Given the description of an element on the screen output the (x, y) to click on. 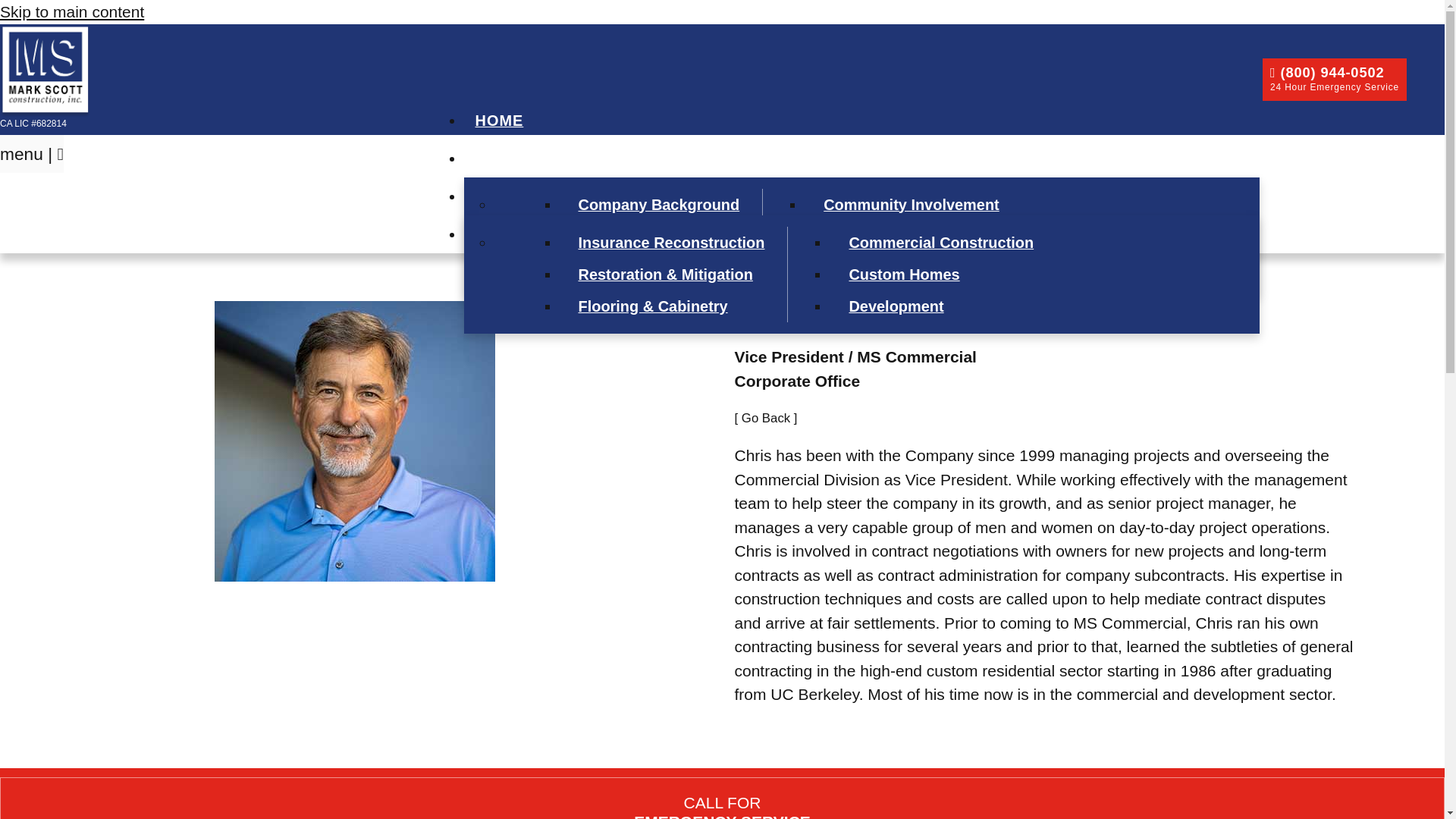
return to previous page (764, 418)
HOME (499, 120)
Custom Homes (937, 274)
 Home Page (45, 71)
Careers (907, 268)
CONTACT (514, 234)
Leadership Team (655, 236)
SERVICES (521, 196)
Mark Scott Construction, Inc. (45, 71)
Community Involvement (907, 204)
Testimonials (907, 236)
Commercial Construction (937, 241)
ABOUT (510, 158)
Company Background (655, 204)
Development (937, 306)
